Given the description of an element on the screen output the (x, y) to click on. 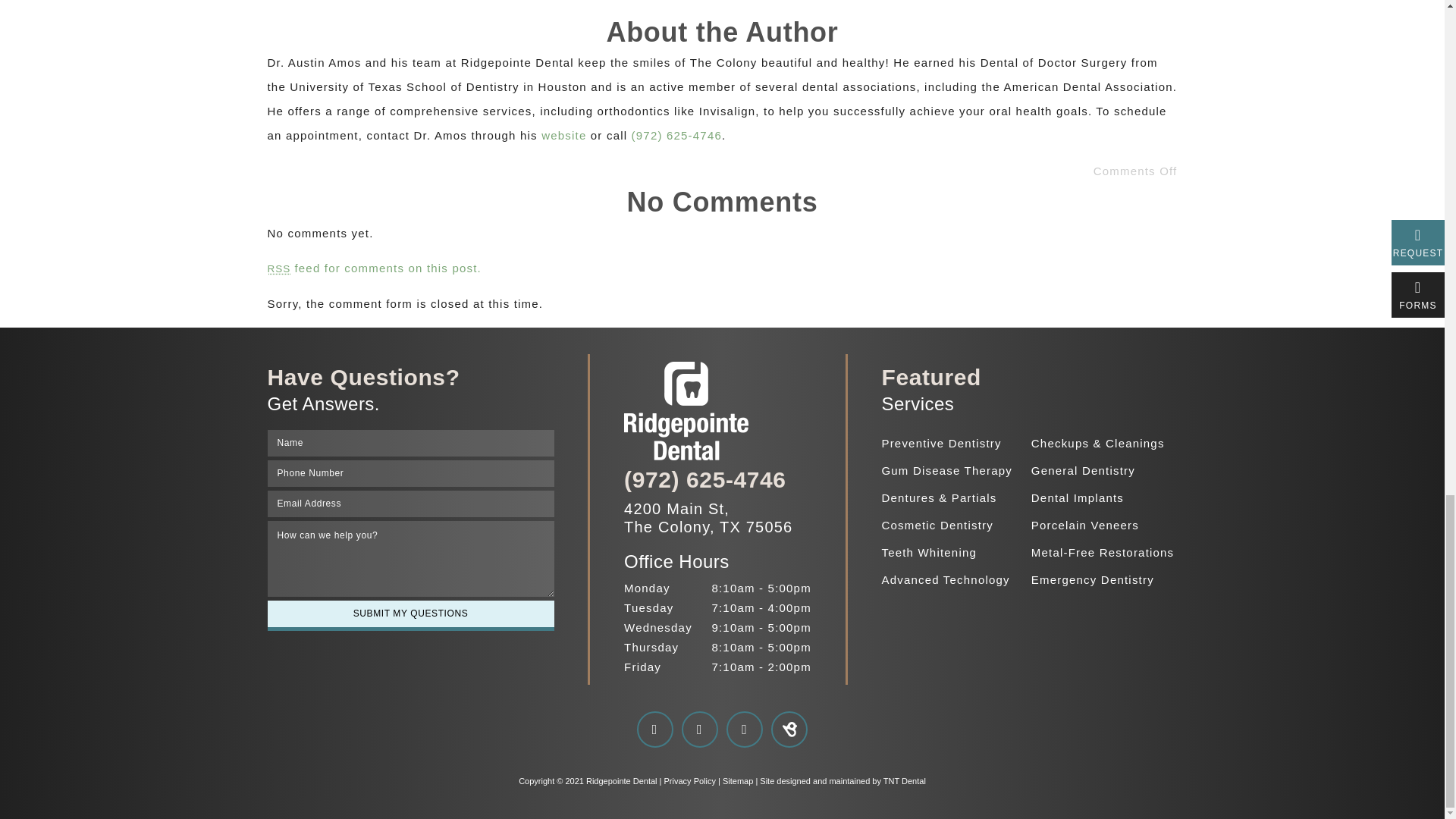
Submit my questions (409, 613)
